Given the description of an element on the screen output the (x, y) to click on. 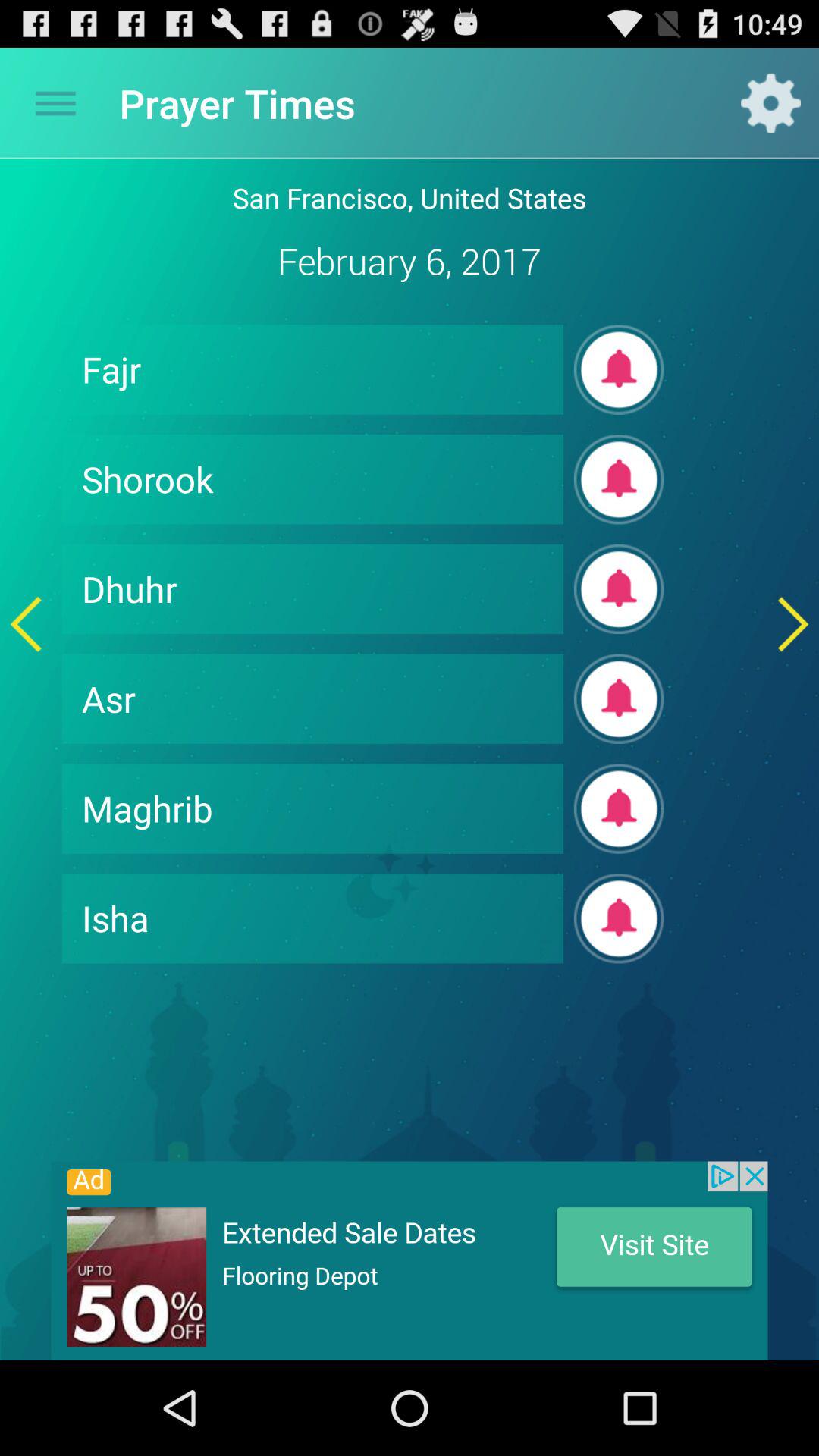
turn on notification (618, 369)
